Given the description of an element on the screen output the (x, y) to click on. 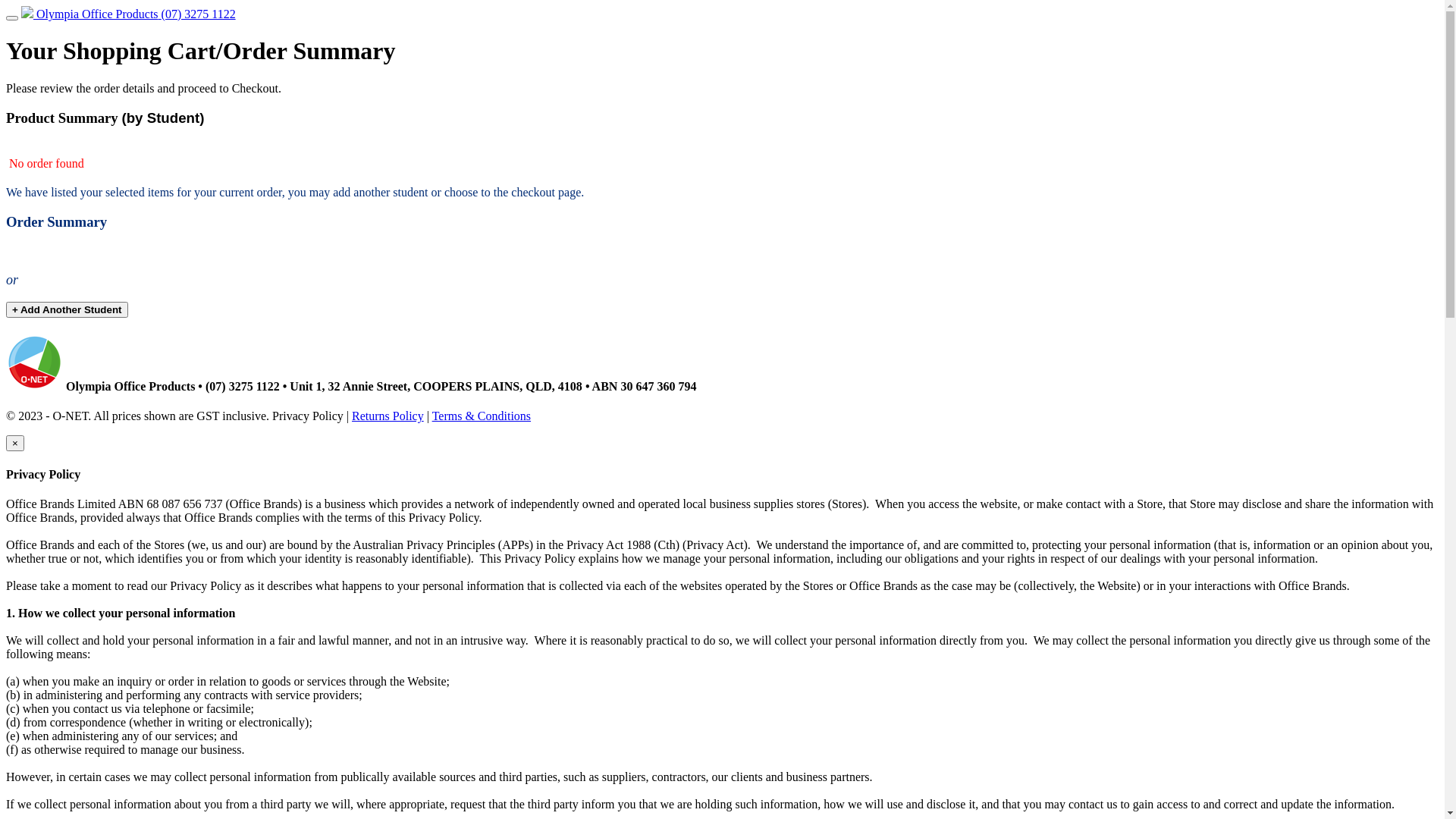
Returns Policy Element type: text (387, 415)
Privacy Policy Element type: text (307, 415)
+ Add Another Student Element type: text (67, 309)
Olympia Office Products (07) 3275 1122 Element type: text (128, 13)
Terms & Conditions Element type: text (481, 415)
